Given the description of an element on the screen output the (x, y) to click on. 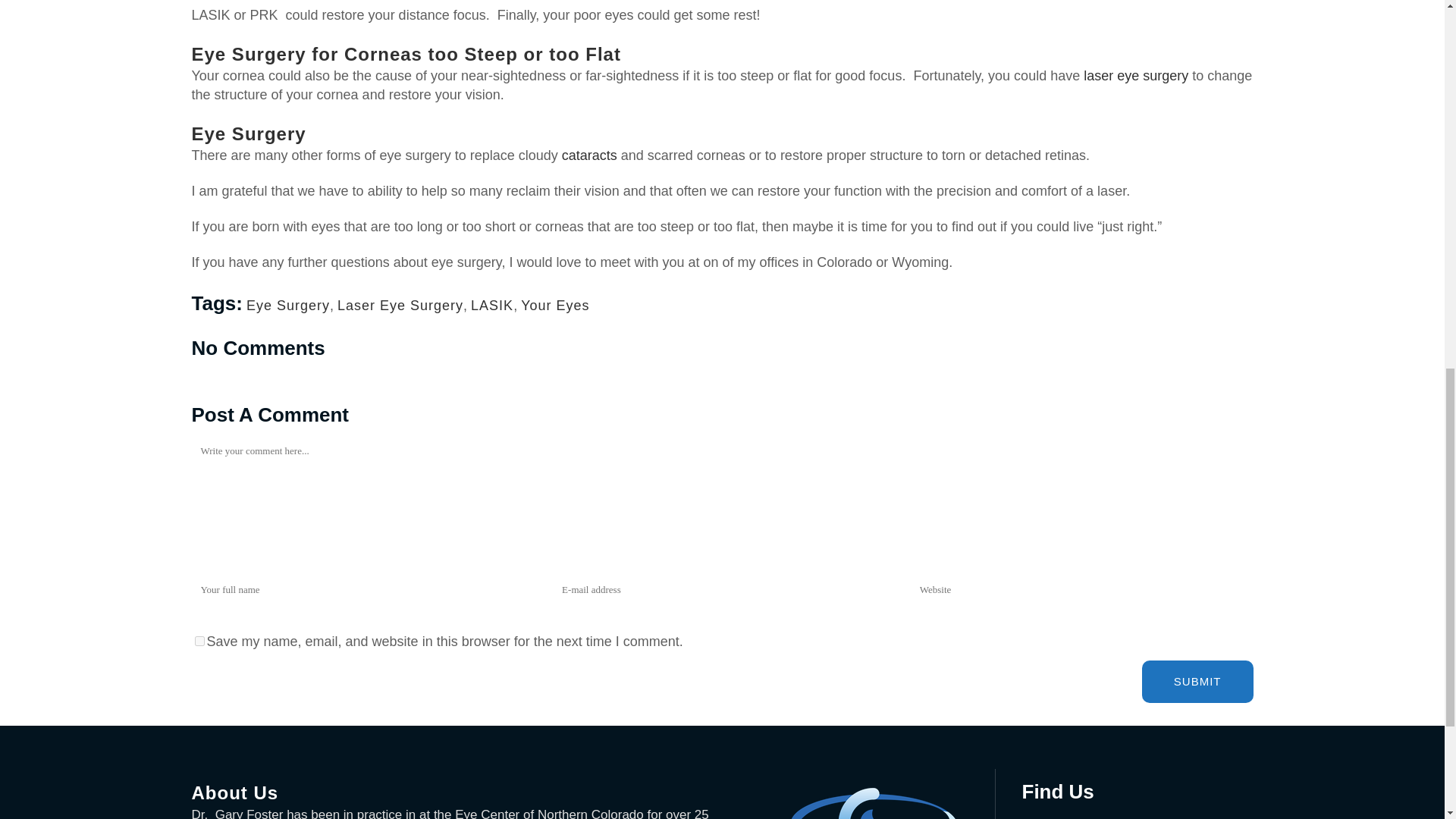
yes (198, 641)
Submit (1197, 681)
What is laser eye surgery? (1135, 75)
What is a cataract? (589, 155)
